Given the description of an element on the screen output the (x, y) to click on. 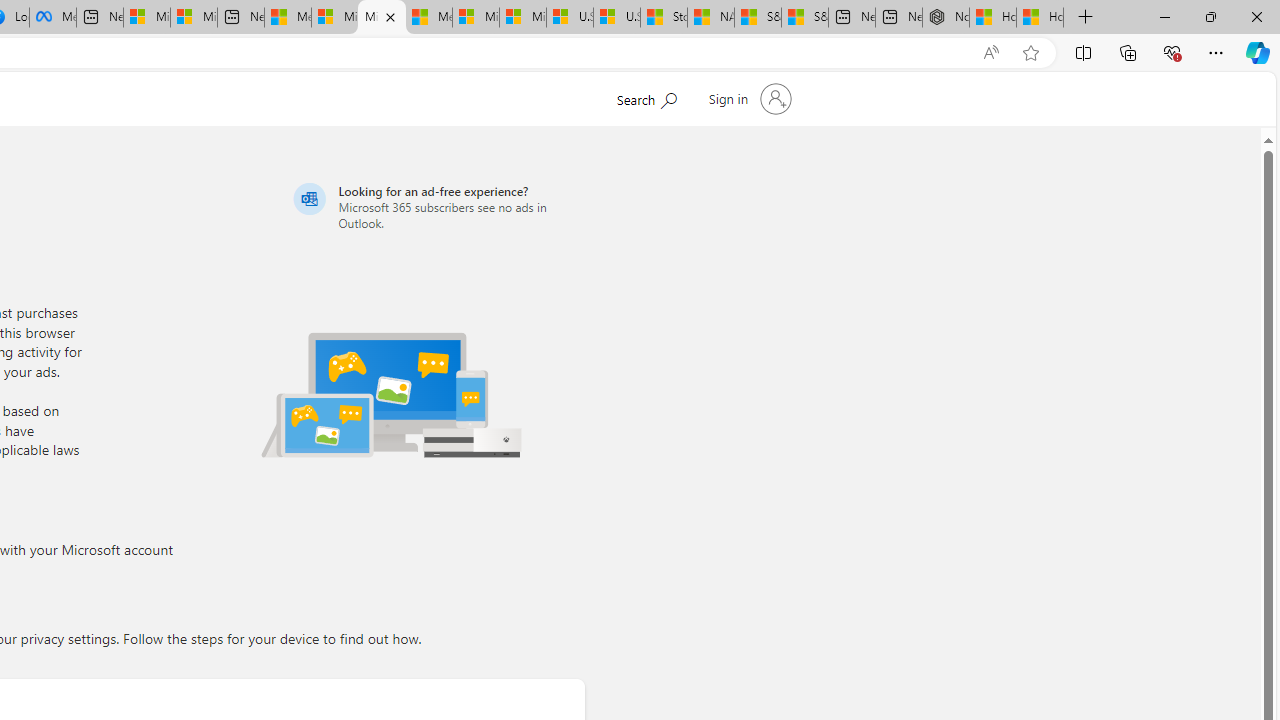
Illustration of multiple devices (391, 394)
Meta Store (52, 17)
